Given the description of an element on the screen output the (x, y) to click on. 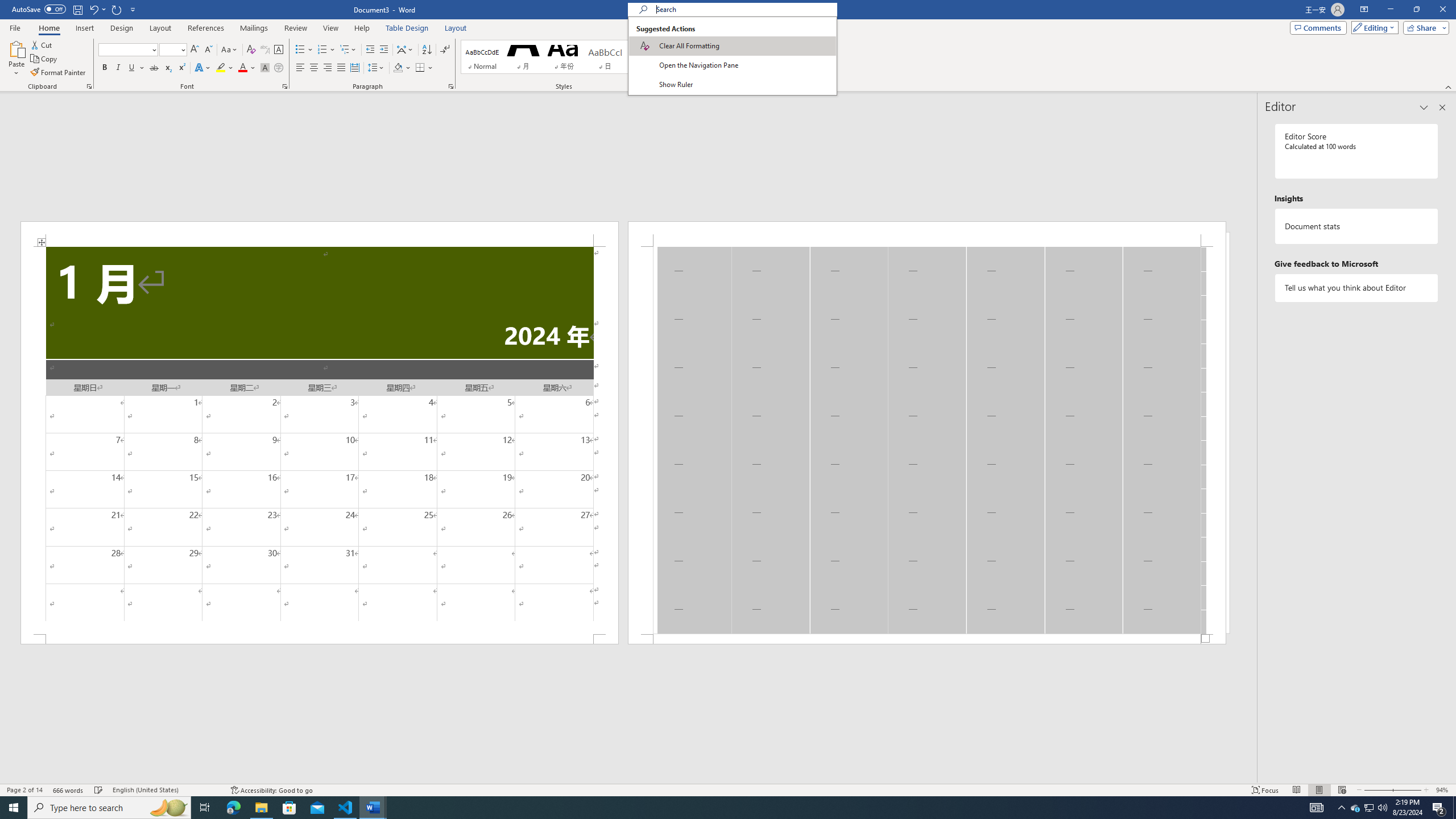
Row Down (670, 56)
Justify (340, 67)
Dictate (747, 48)
Change Case (229, 49)
Editor (780, 58)
Underline (136, 67)
Tell us what you think about Editor (1356, 288)
Ribbon Display Options (1364, 9)
Shading RGB(0, 0, 0) (397, 67)
Font Color RGB(255, 0, 0) (241, 67)
Header -Section 1- (926, 233)
Clear All Formatting (731, 45)
Find (705, 44)
AutoSave (38, 9)
